Given the description of an element on the screen output the (x, y) to click on. 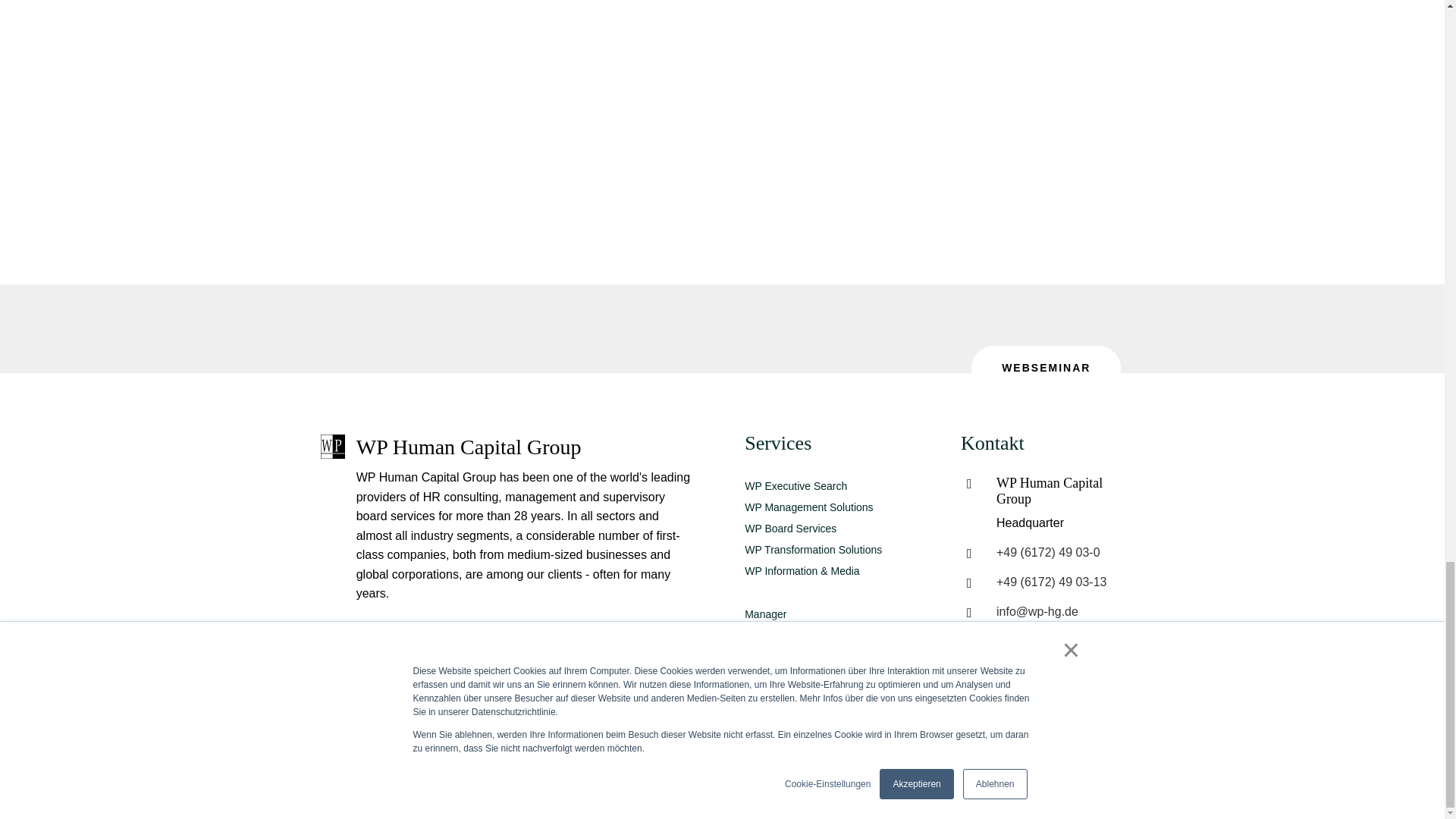
WP Human (332, 446)
